Given the description of an element on the screen output the (x, y) to click on. 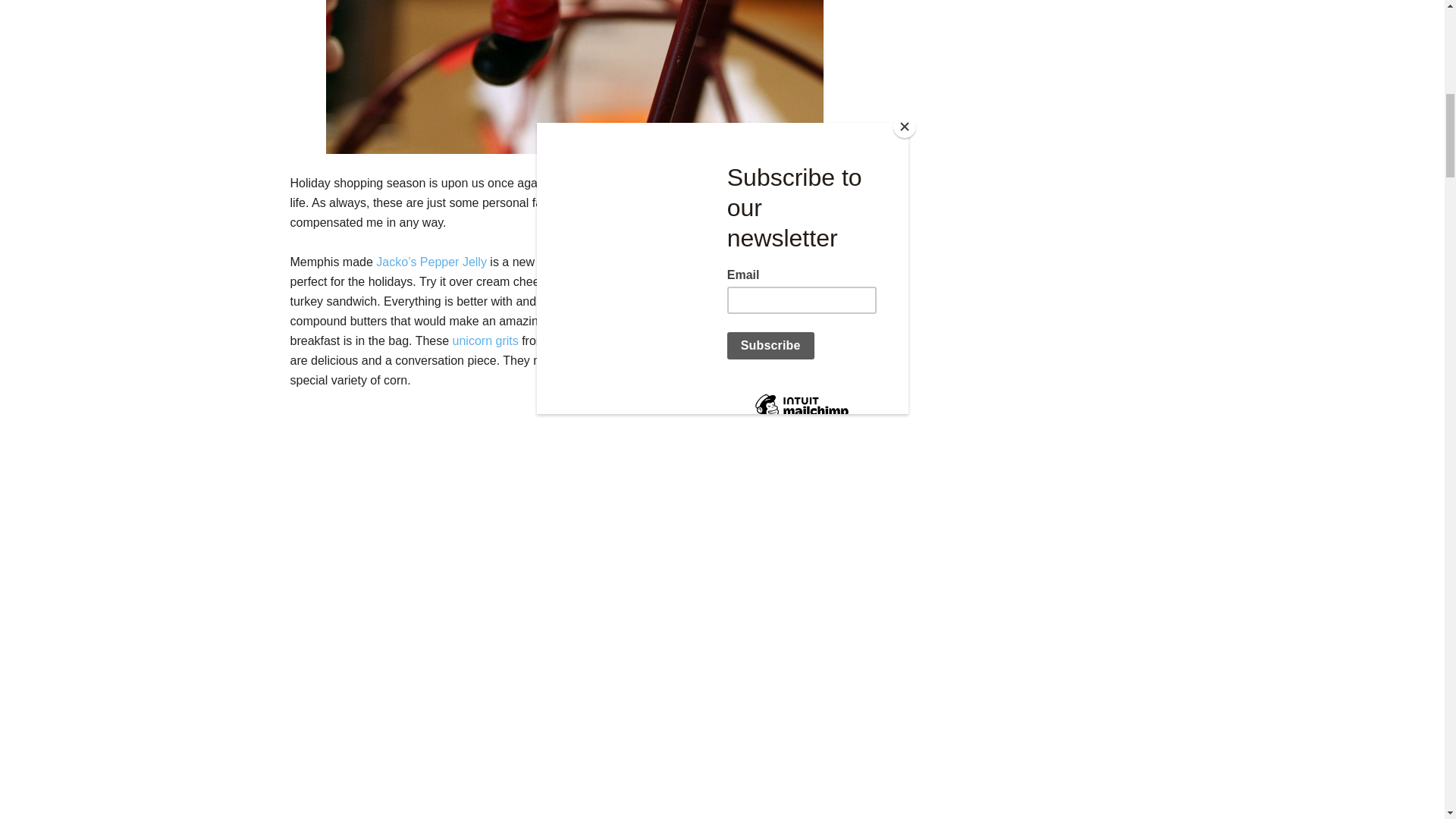
unicorn grits  (487, 340)
Banner Butter  (656, 300)
